Given the description of an element on the screen output the (x, y) to click on. 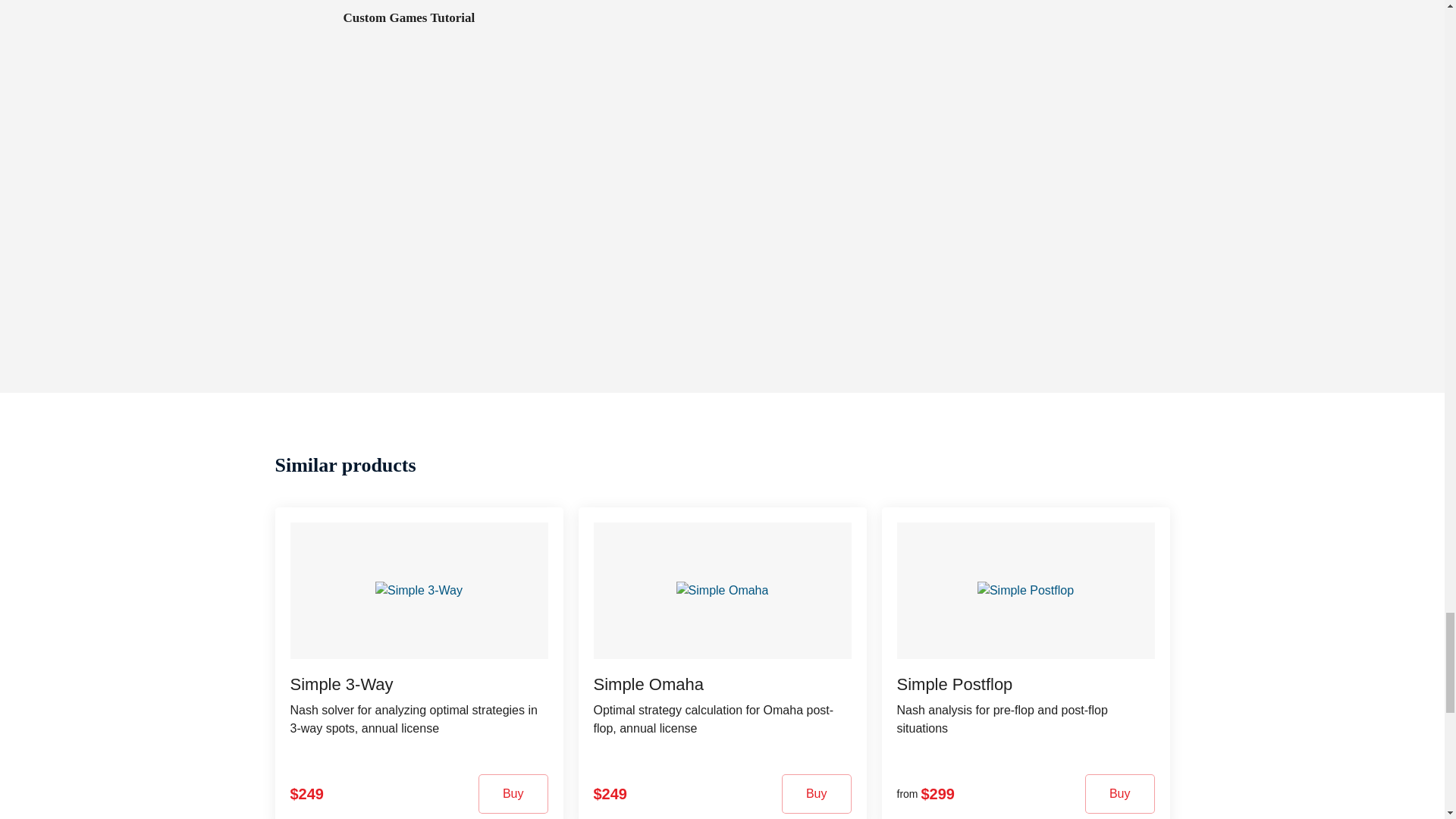
Simple 3-Way (341, 684)
Simple Omaha (721, 590)
Simple Postflop (953, 684)
Simple Omaha (647, 684)
Simple Postflop (1025, 590)
Simple 3-Way (418, 590)
